Given the description of an element on the screen output the (x, y) to click on. 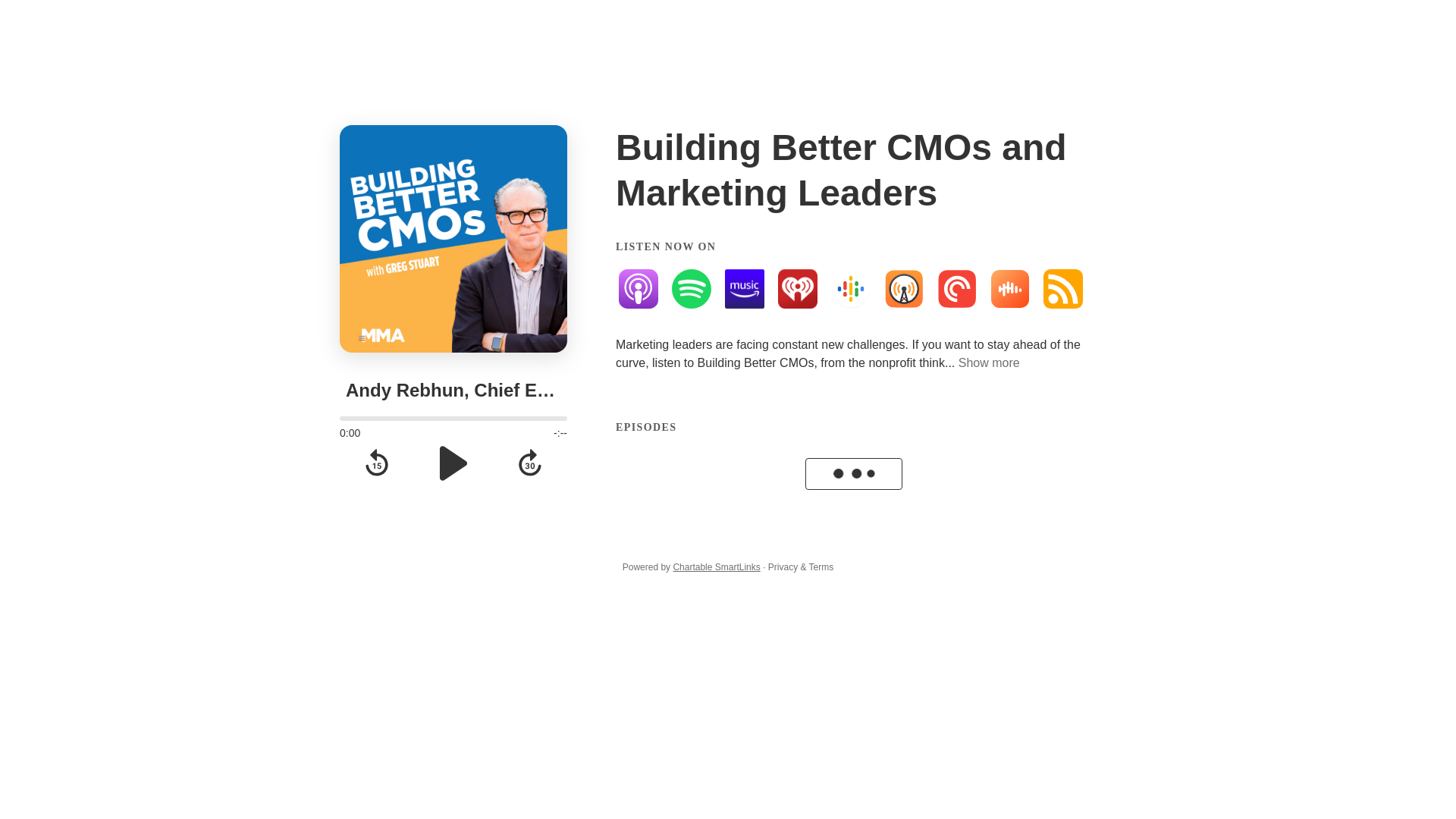
Chartable SmartLinks (716, 566)
